Given the description of an element on the screen output the (x, y) to click on. 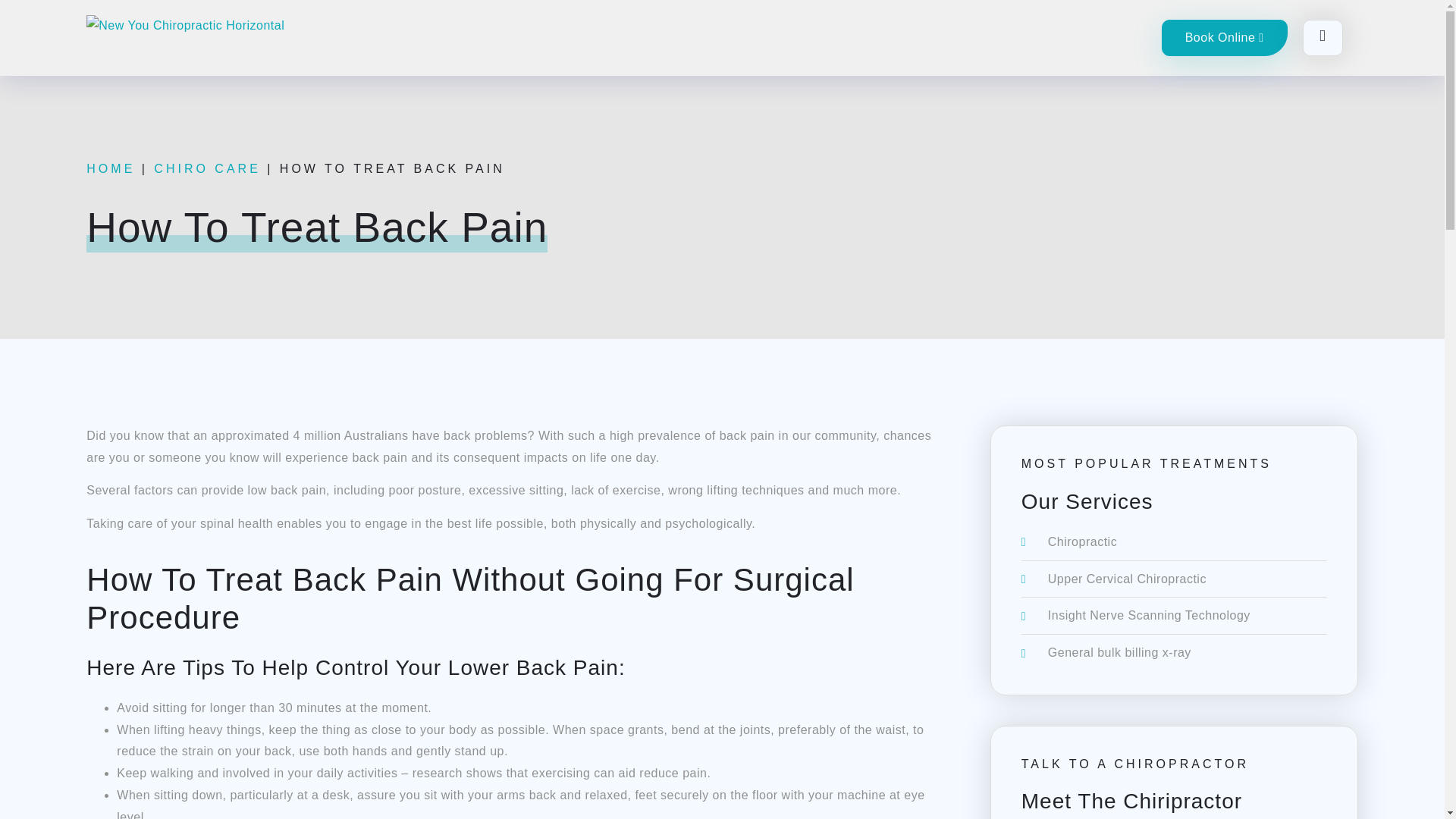
CHIRO CARE (207, 168)
Chiropractic (1174, 542)
General bulk billing x-ray (1174, 653)
HOME (110, 168)
Upper Cervical Chiropractic (1174, 579)
Book Online (1224, 37)
Insight Nerve Scanning Technology (1174, 616)
